Given the description of an element on the screen output the (x, y) to click on. 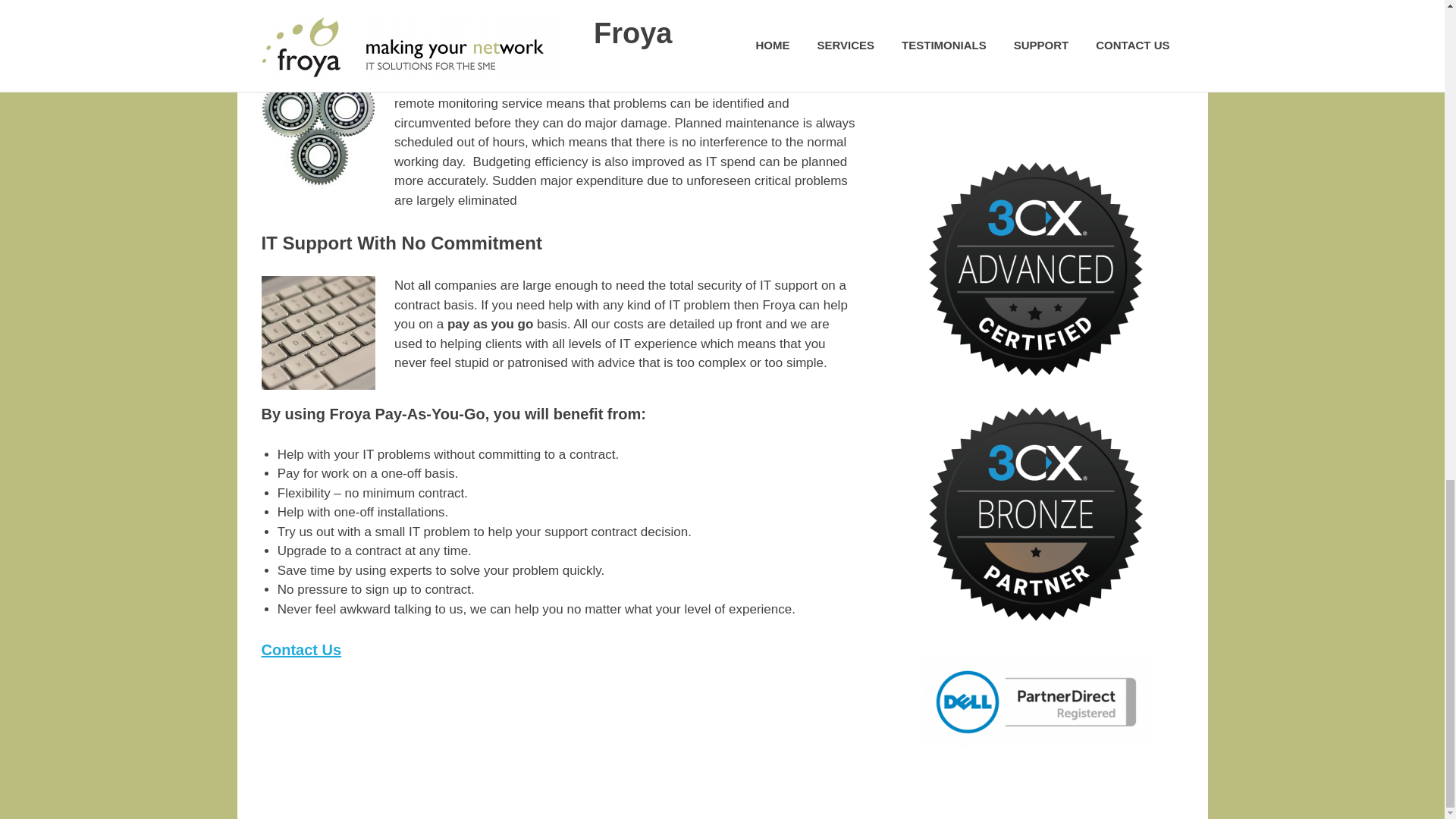
Contact Us (300, 649)
